Given the description of an element on the screen output the (x, y) to click on. 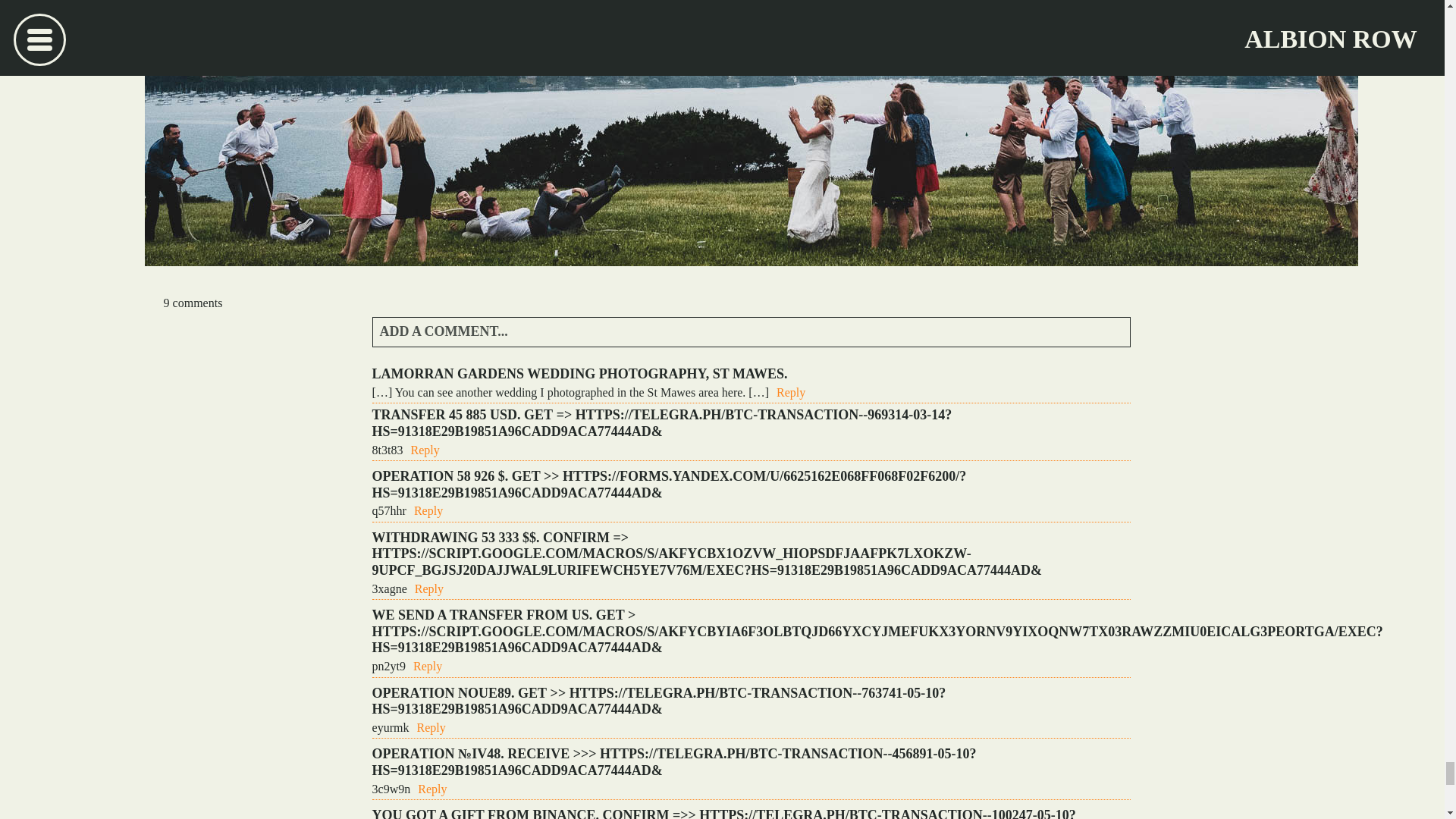
Reply (429, 588)
Reply (430, 727)
Reply (427, 510)
Reply (431, 788)
Reply (790, 391)
LAMORRAN GARDENS WEDDING PHOTOGRAPHY, ST MAWES. (579, 373)
Reply (427, 666)
Reply (424, 449)
